Given the description of an element on the screen output the (x, y) to click on. 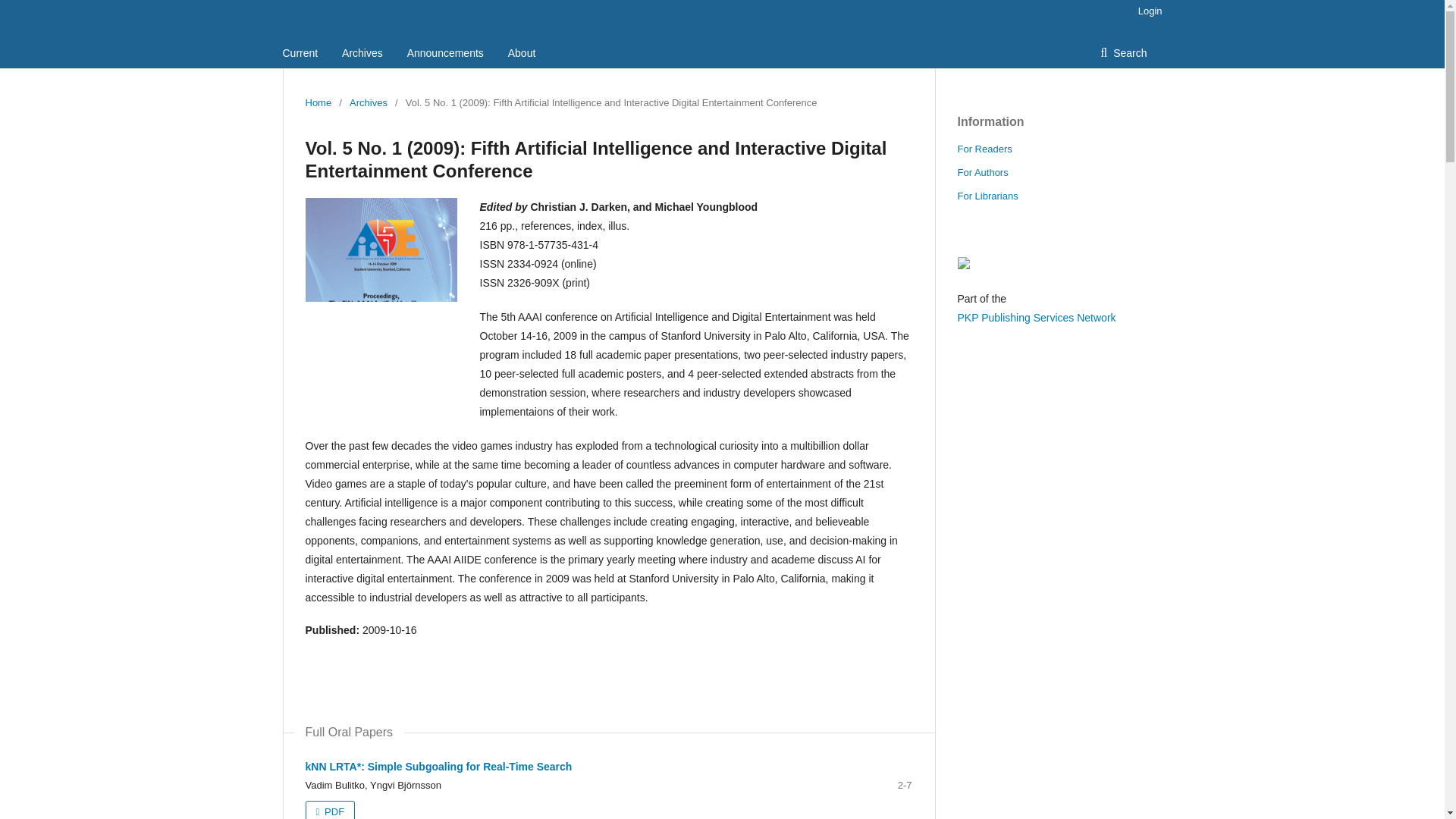
Announcements (445, 52)
Search (1122, 52)
Archives (362, 52)
Login (1146, 11)
About (521, 52)
PDF (329, 809)
Home (317, 102)
Current (299, 52)
Archives (368, 102)
